Given the description of an element on the screen output the (x, y) to click on. 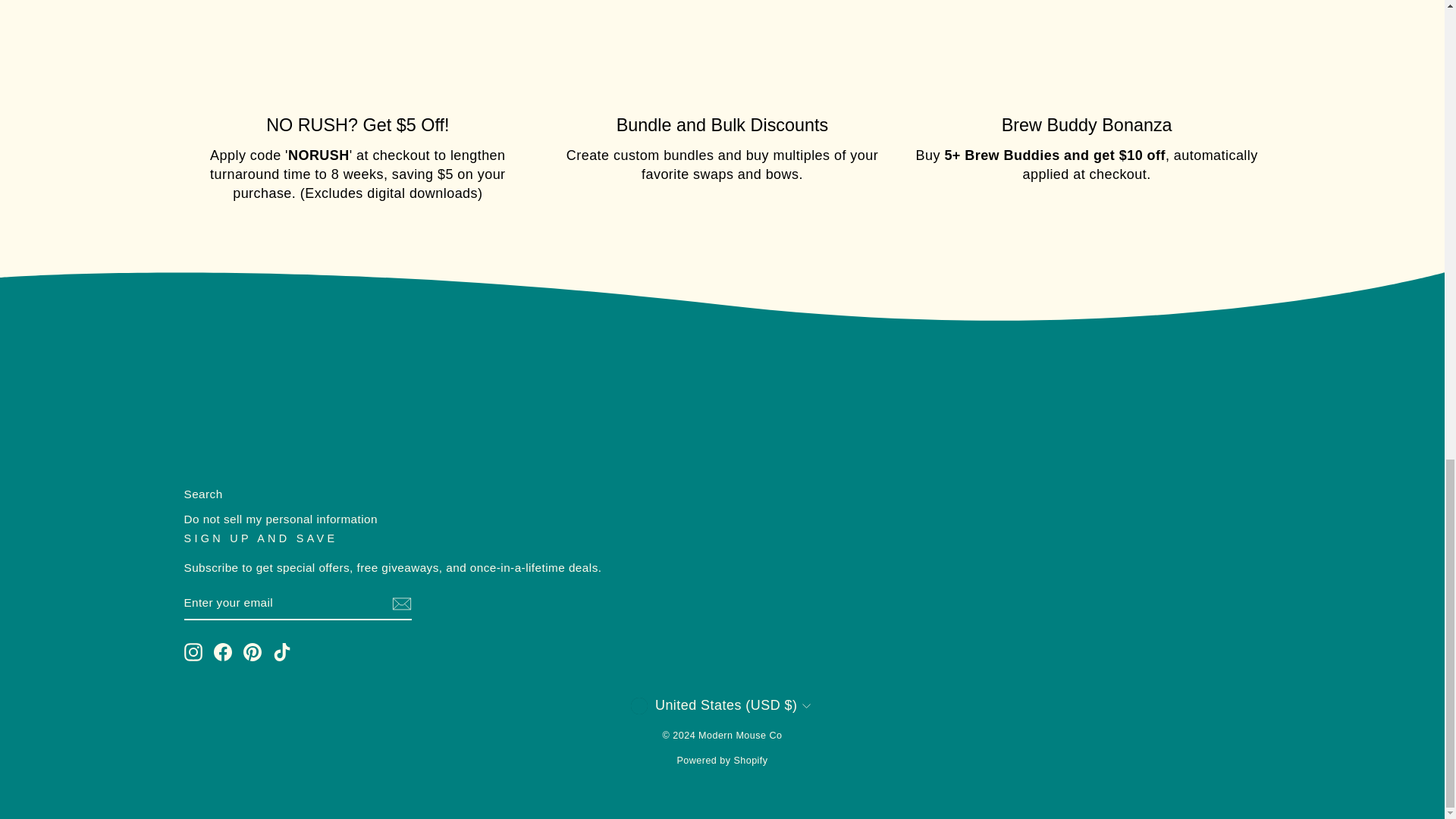
icon-email (400, 604)
Modern Mouse Co on Facebook (222, 651)
Modern Mouse Co on Pinterest (251, 651)
instagram (192, 651)
Modern Mouse Co on TikTok (282, 651)
Modern Mouse Co on Instagram (192, 651)
